Given the description of an element on the screen output the (x, y) to click on. 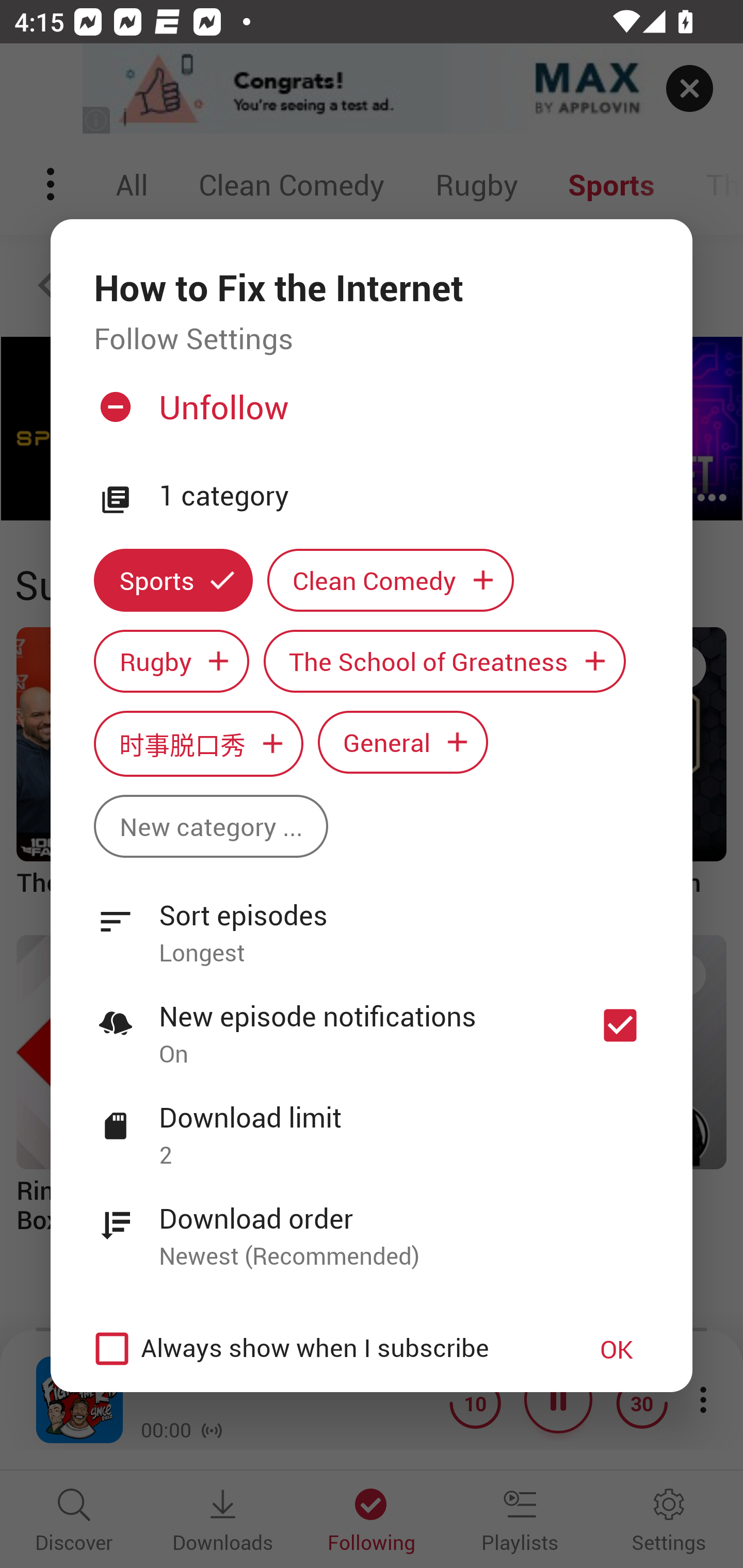
Unfollow (369, 415)
1 category (404, 495)
Sports (172, 579)
Clean Comedy (390, 579)
Rugby (170, 661)
The School of Greatness (444, 661)
时事脱口秀 (198, 743)
General (403, 741)
New category ... (210, 825)
Sort episodes Longest (371, 922)
New episode notifications (620, 1025)
Download limit 2 (371, 1125)
Download order Newest (Recommended) (371, 1226)
OK (616, 1349)
Always show when I subscribe (320, 1349)
